Given the description of an element on the screen output the (x, y) to click on. 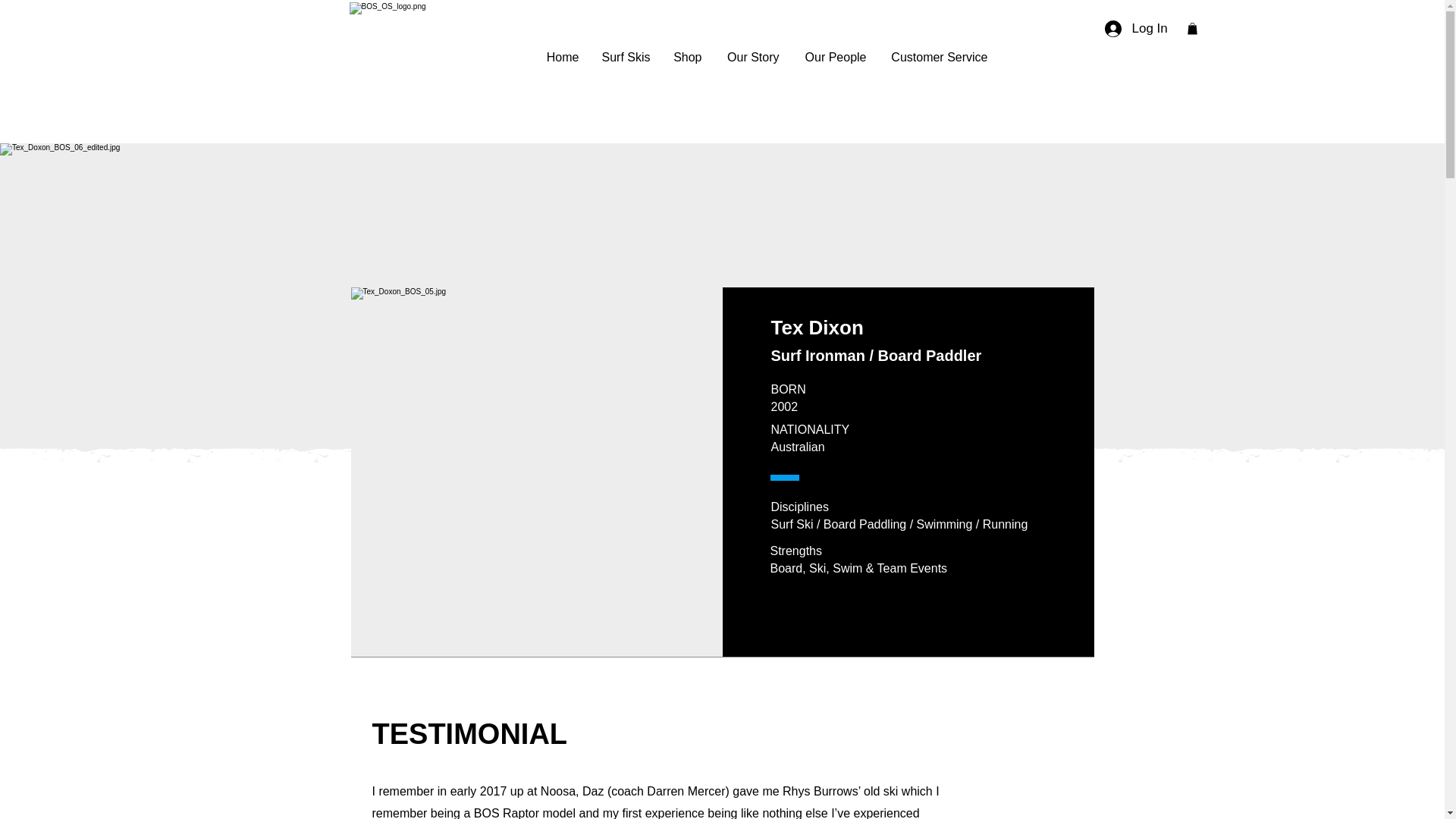
Our People (833, 57)
Home (562, 57)
Log In (1123, 28)
Our Story (751, 57)
Shop (687, 57)
Surf Skis (625, 57)
Customer Service (937, 57)
